Given the description of an element on the screen output the (x, y) to click on. 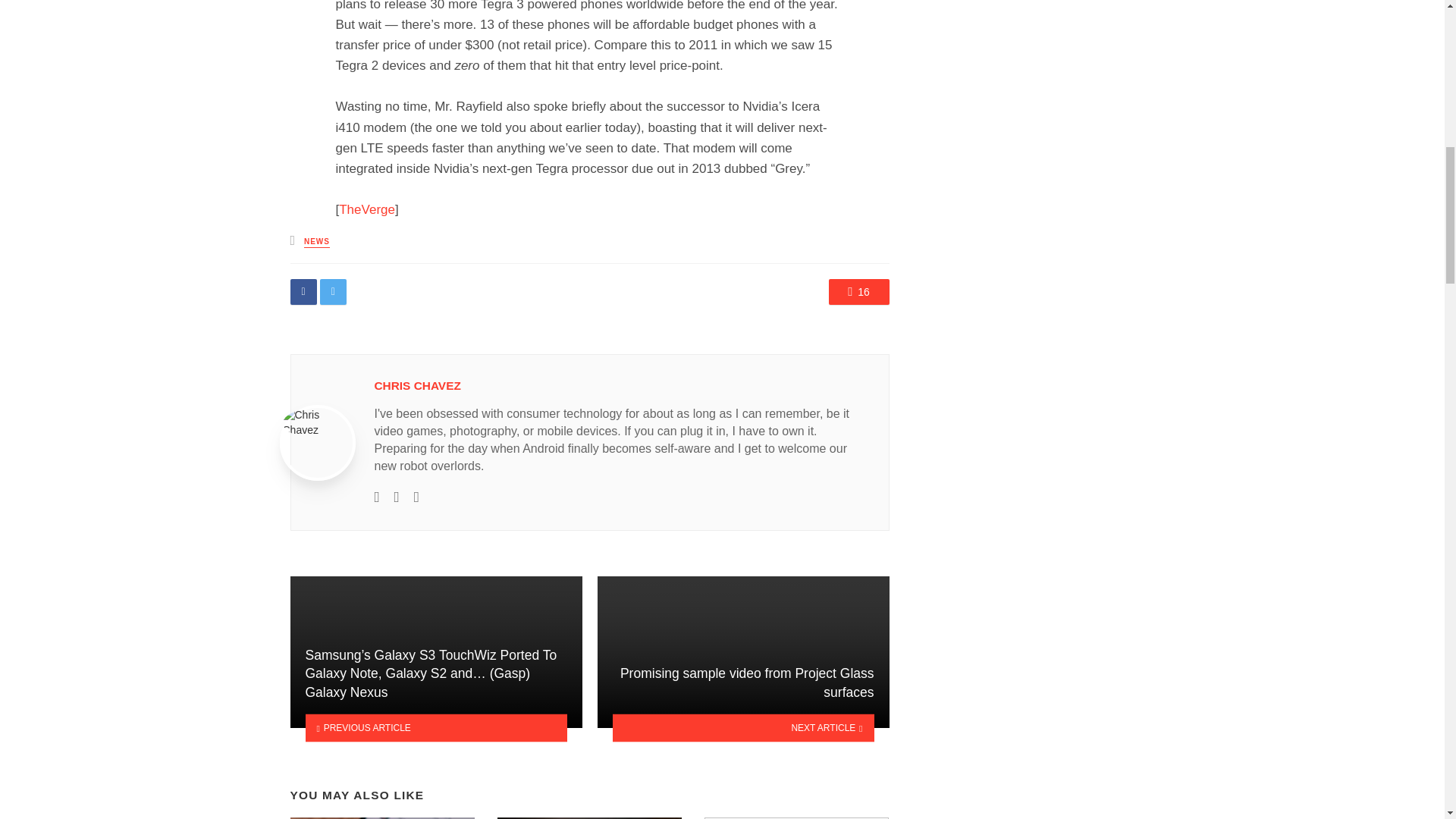
CHRIS CHAVEZ (417, 385)
TheVerge (366, 209)
16 (858, 291)
PREVIOUS ARTICLE (434, 728)
Share on Facebook (302, 291)
NEWS (317, 242)
Share on Twitter (333, 291)
16 Comments (858, 291)
Posts by Chris Chavez (417, 385)
